Given the description of an element on the screen output the (x, y) to click on. 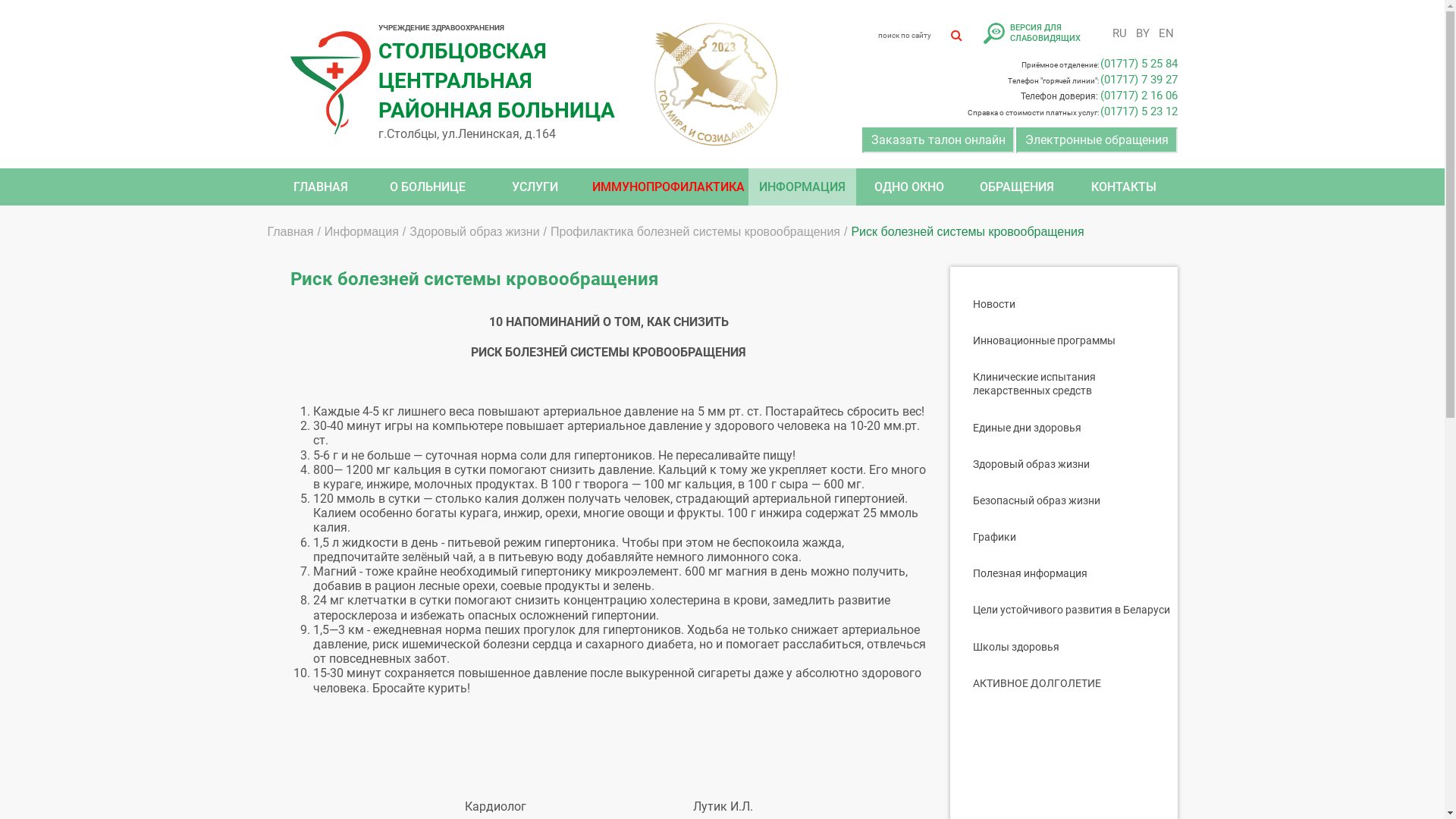
EN Element type: text (1165, 32)
RU Element type: text (1119, 32)
BY Element type: text (1141, 32)
